Given the description of an element on the screen output the (x, y) to click on. 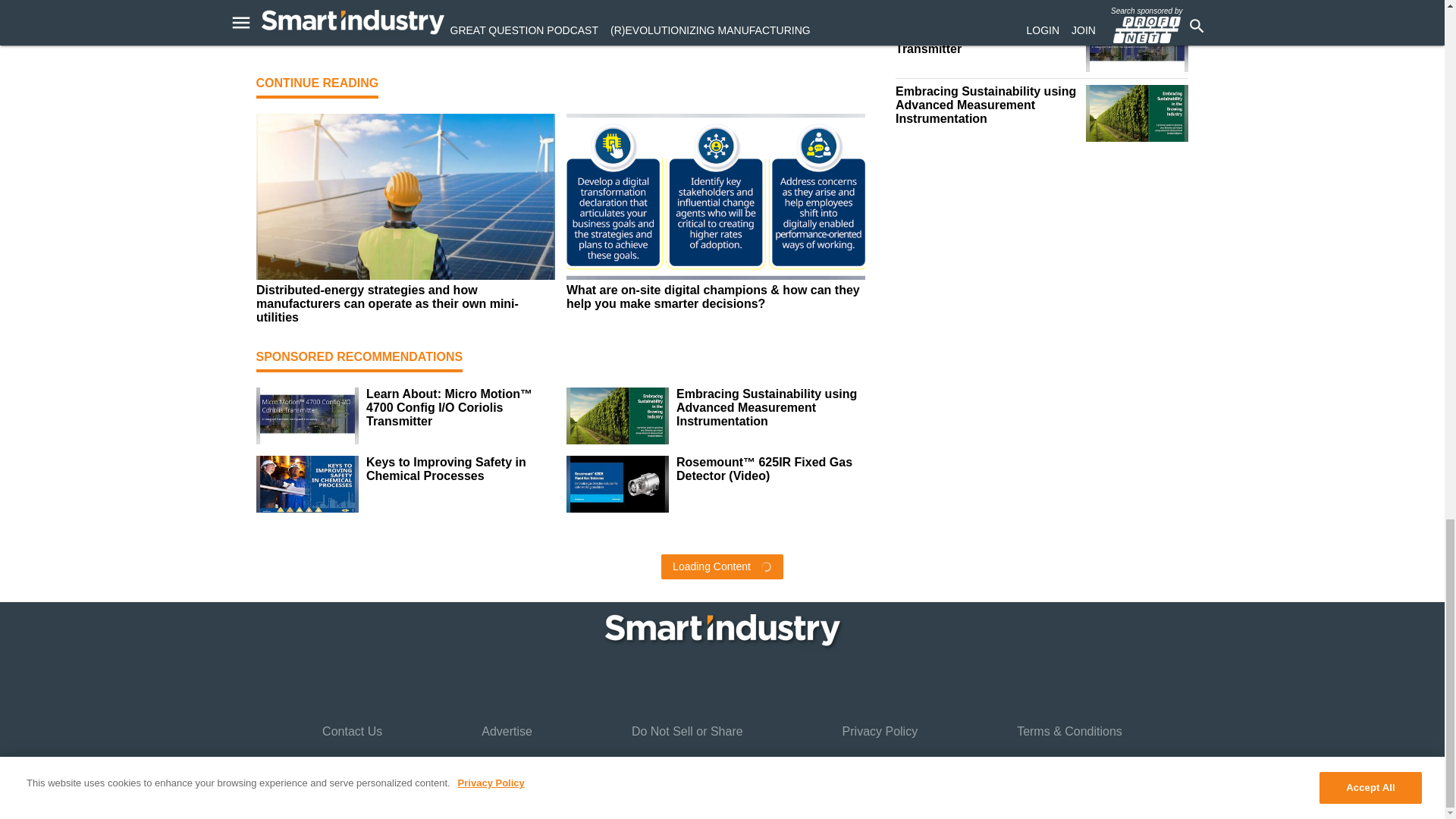
Activate-Graphic-Large28 (560, 10)
